Given the description of an element on the screen output the (x, y) to click on. 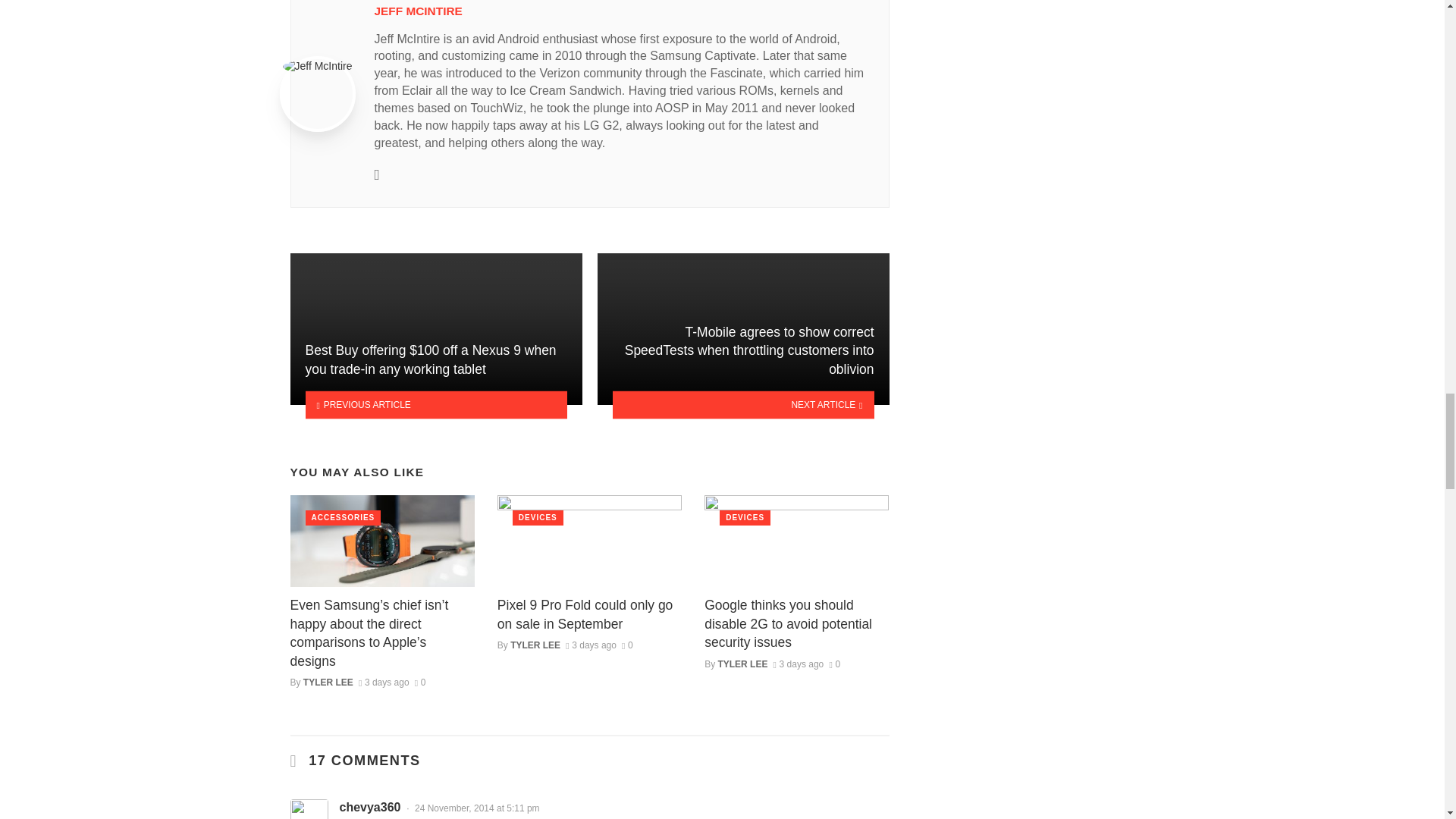
August 2, 2024 at 12:45 am (590, 644)
0 Comments (627, 644)
JEFF MCINTIRE (418, 10)
August 2, 2024 at 5:36 am (383, 682)
Posts by Jeff McIntire (418, 10)
0 Comments (420, 682)
0 Comments (834, 664)
August 2, 2024 at 12:30 am (798, 664)
